Given the description of an element on the screen output the (x, y) to click on. 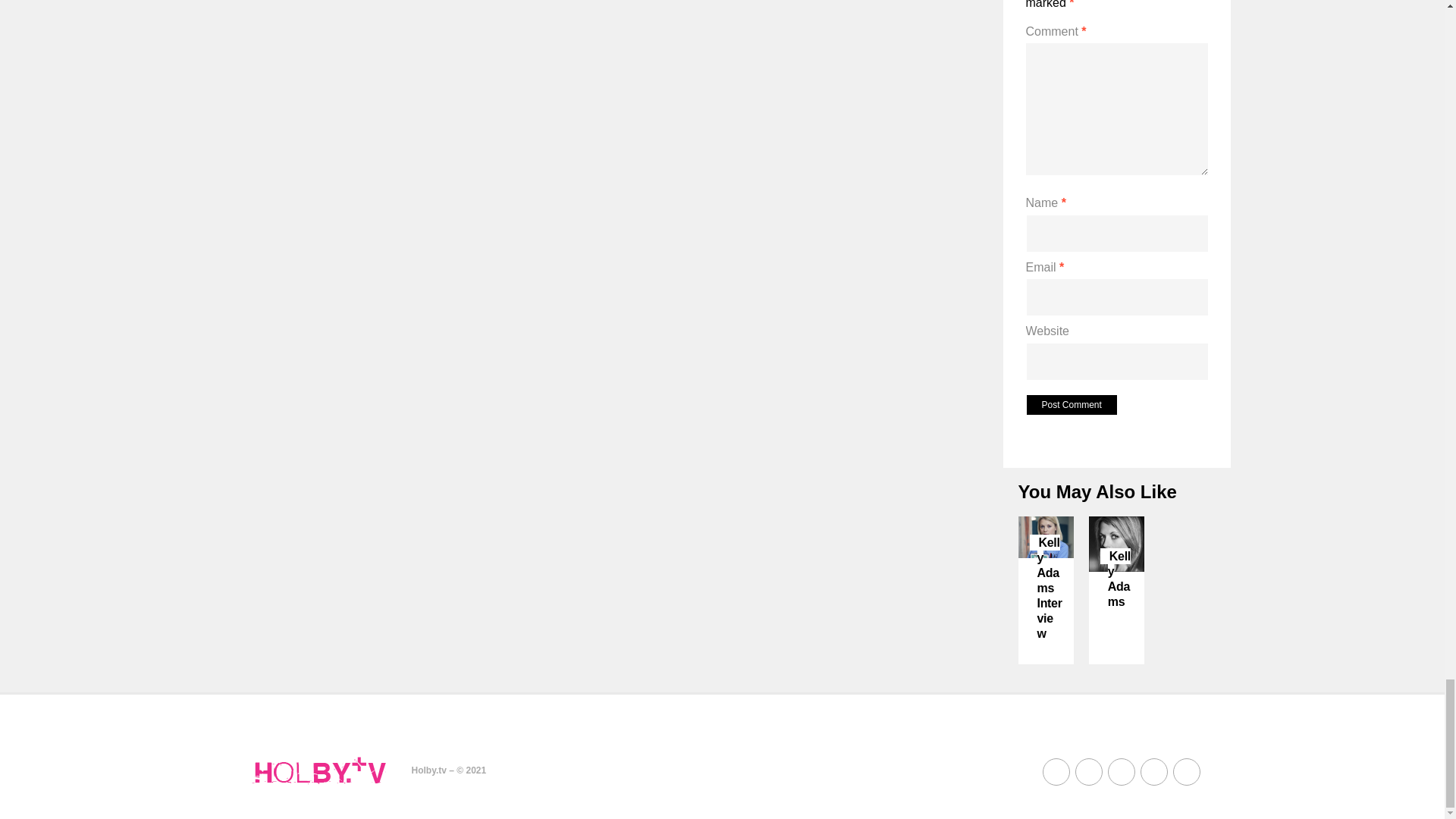
Post Comment (1071, 404)
